Given the description of an element on the screen output the (x, y) to click on. 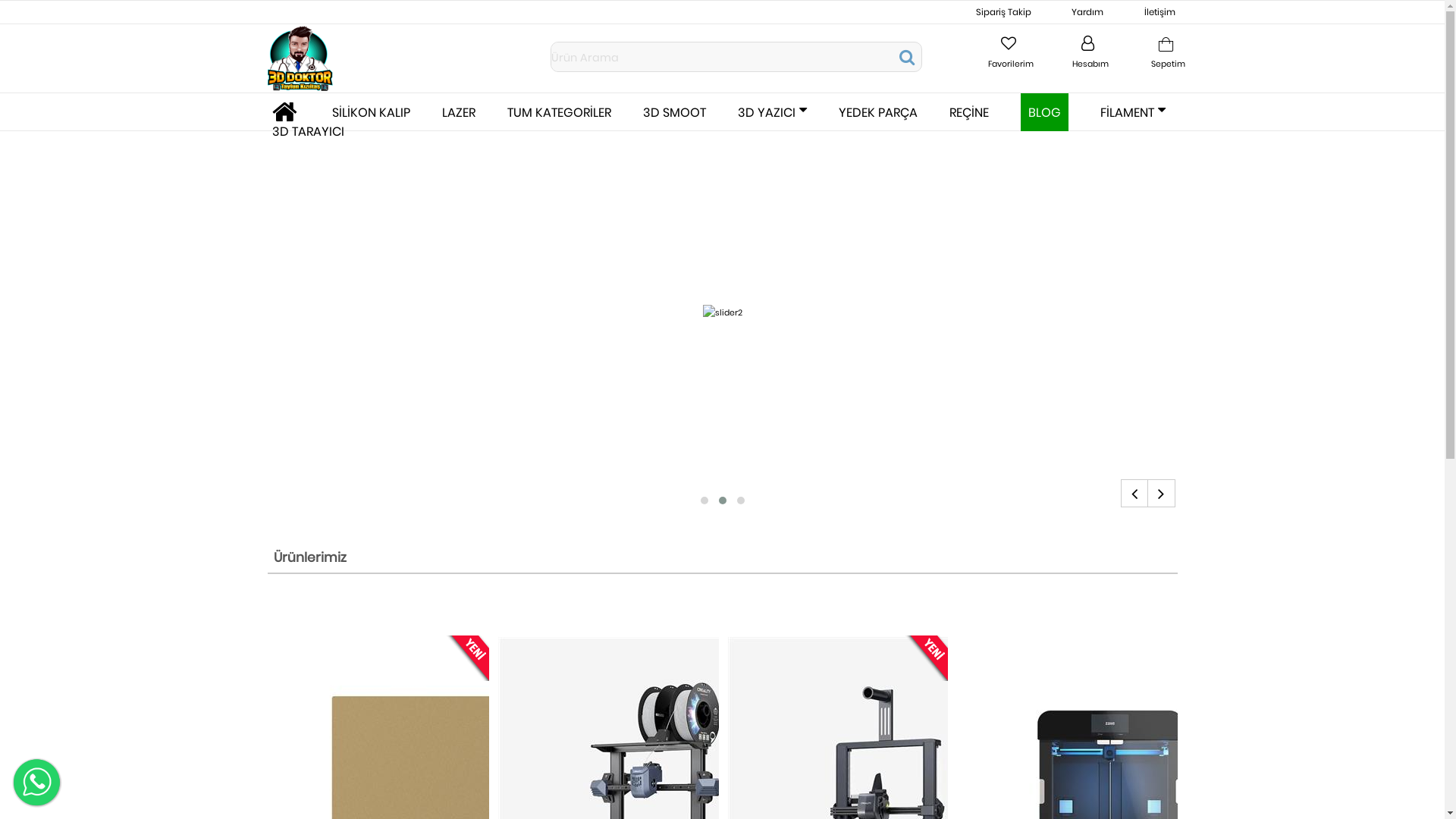
TUM KATEGORILER Element type: text (558, 112)
FILAMENT Element type: text (1132, 112)
Arama Element type: hover (906, 56)
SILIKON KALIP Element type: text (370, 112)
BLOG Element type: text (1044, 112)
3D TARAYICI Element type: text (307, 131)
Favorilerim Element type: text (1010, 52)
LAZER Element type: text (457, 112)
3D YAZICI Element type: text (771, 112)
3D SMOOT Element type: text (674, 112)
